Given the description of an element on the screen output the (x, y) to click on. 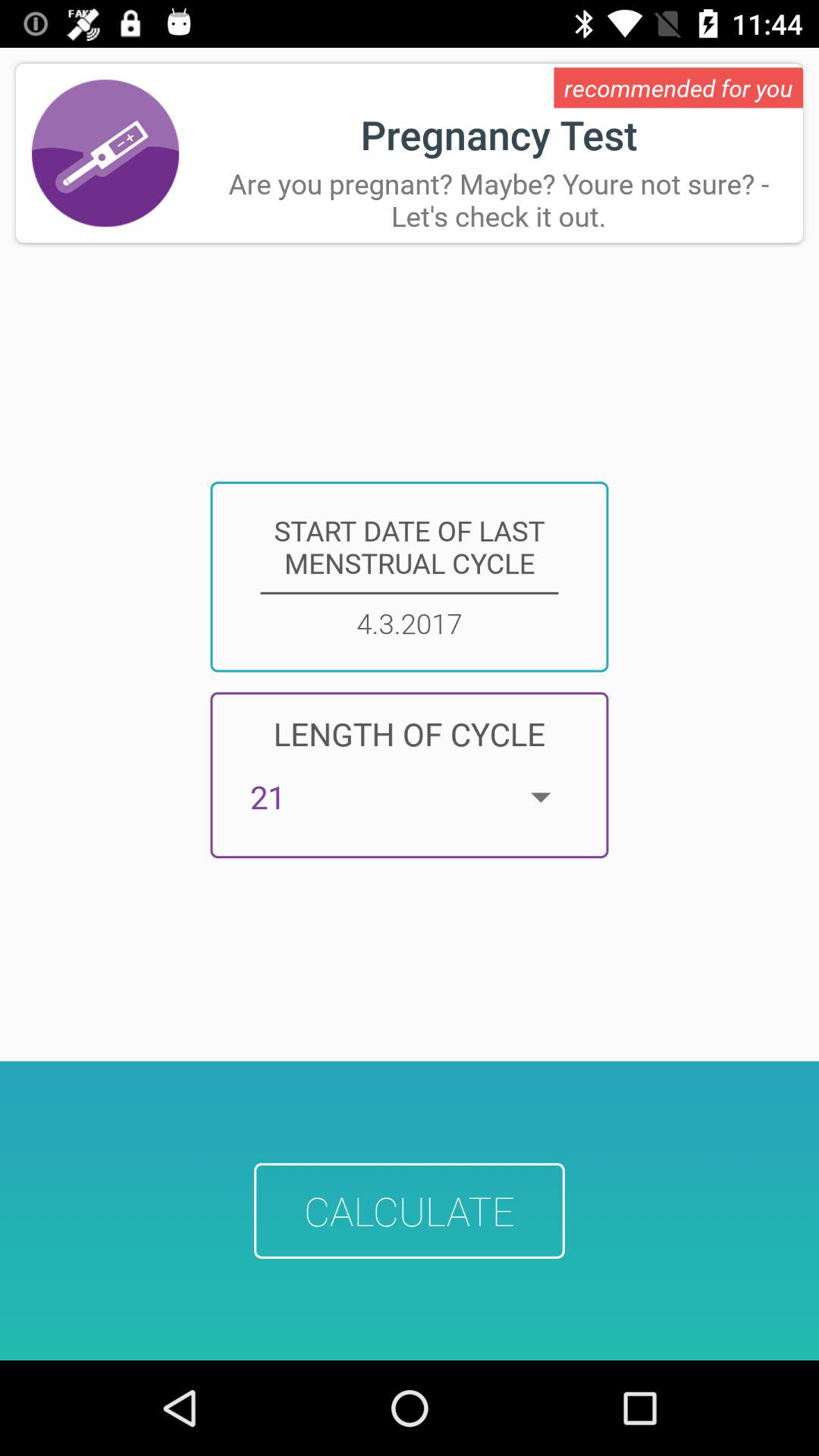
flip until the calculate icon (409, 1210)
